Given the description of an element on the screen output the (x, y) to click on. 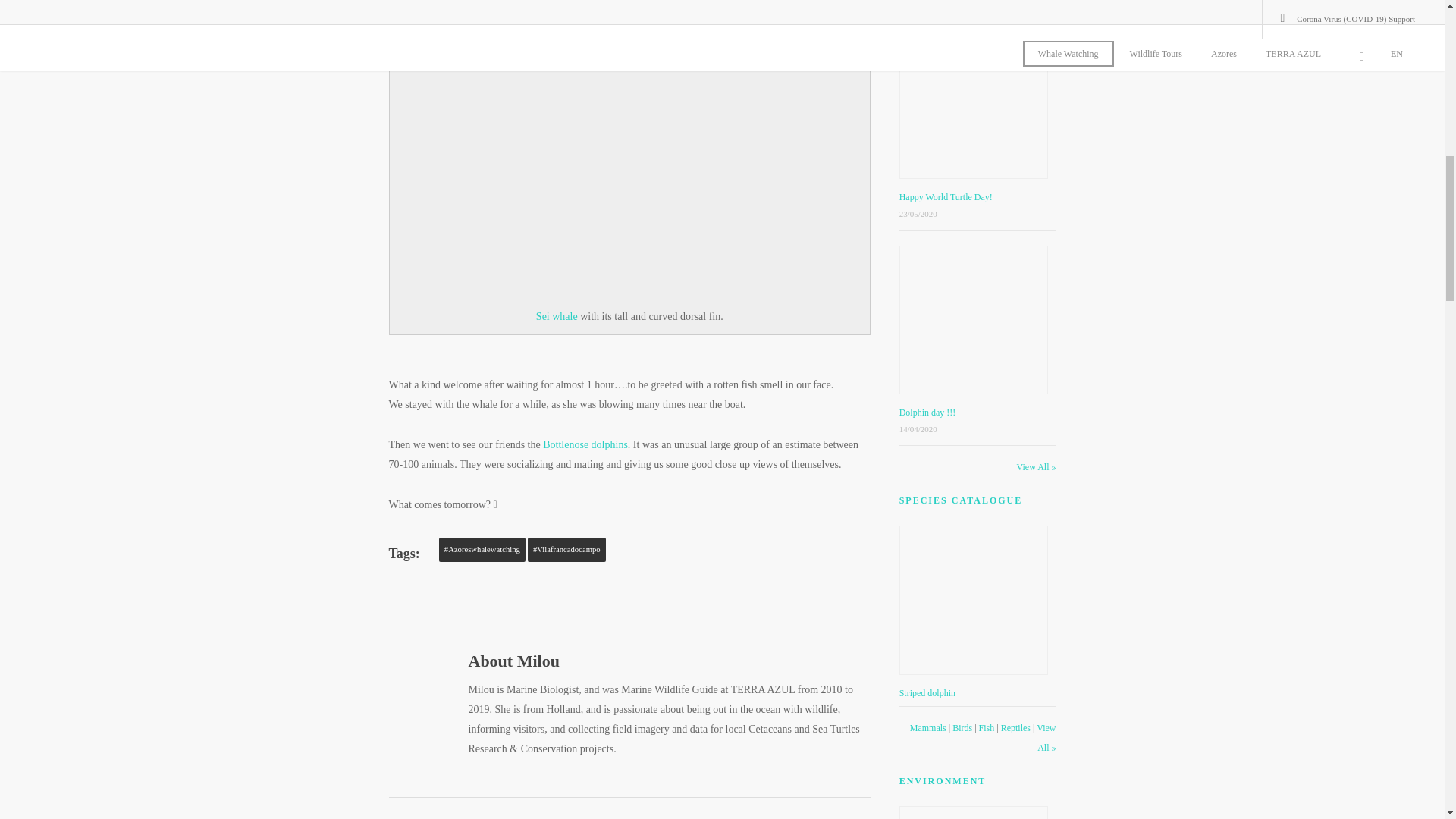
Permalink to Happy World Turtle Day! (945, 196)
Species Catalogue (961, 500)
Permalink to Dolphin day !!! (927, 412)
Environment (943, 780)
Education (933, 4)
Permalink to Striped dolphin (927, 692)
